Given the description of an element on the screen output the (x, y) to click on. 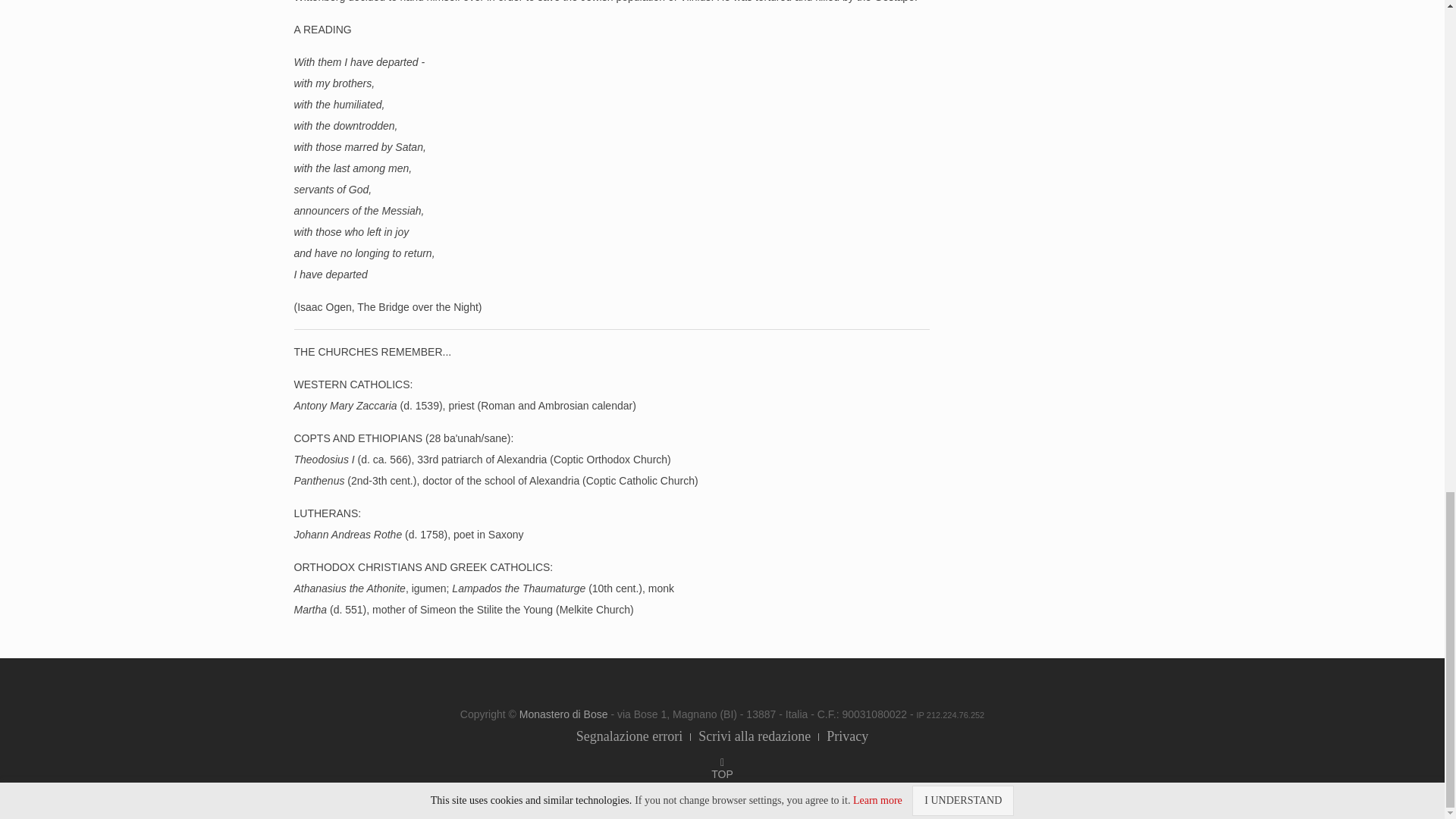
TOP (721, 773)
